Given the description of an element on the screen output the (x, y) to click on. 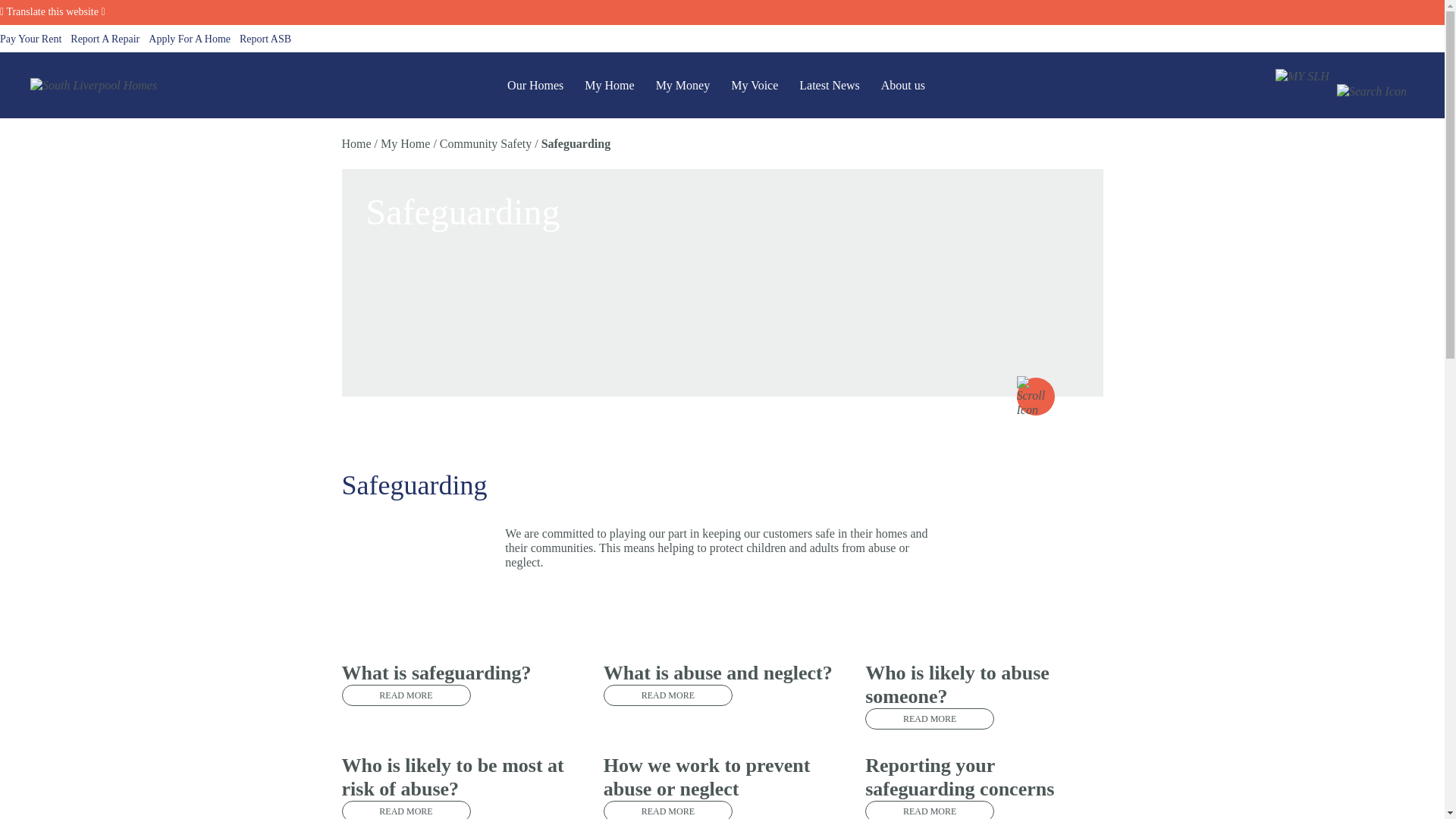
Pay Your Rent (30, 39)
Report ASB (265, 39)
Report A Repair (104, 39)
Translate this website (52, 11)
Apply For A Home (189, 39)
